Given the description of an element on the screen output the (x, y) to click on. 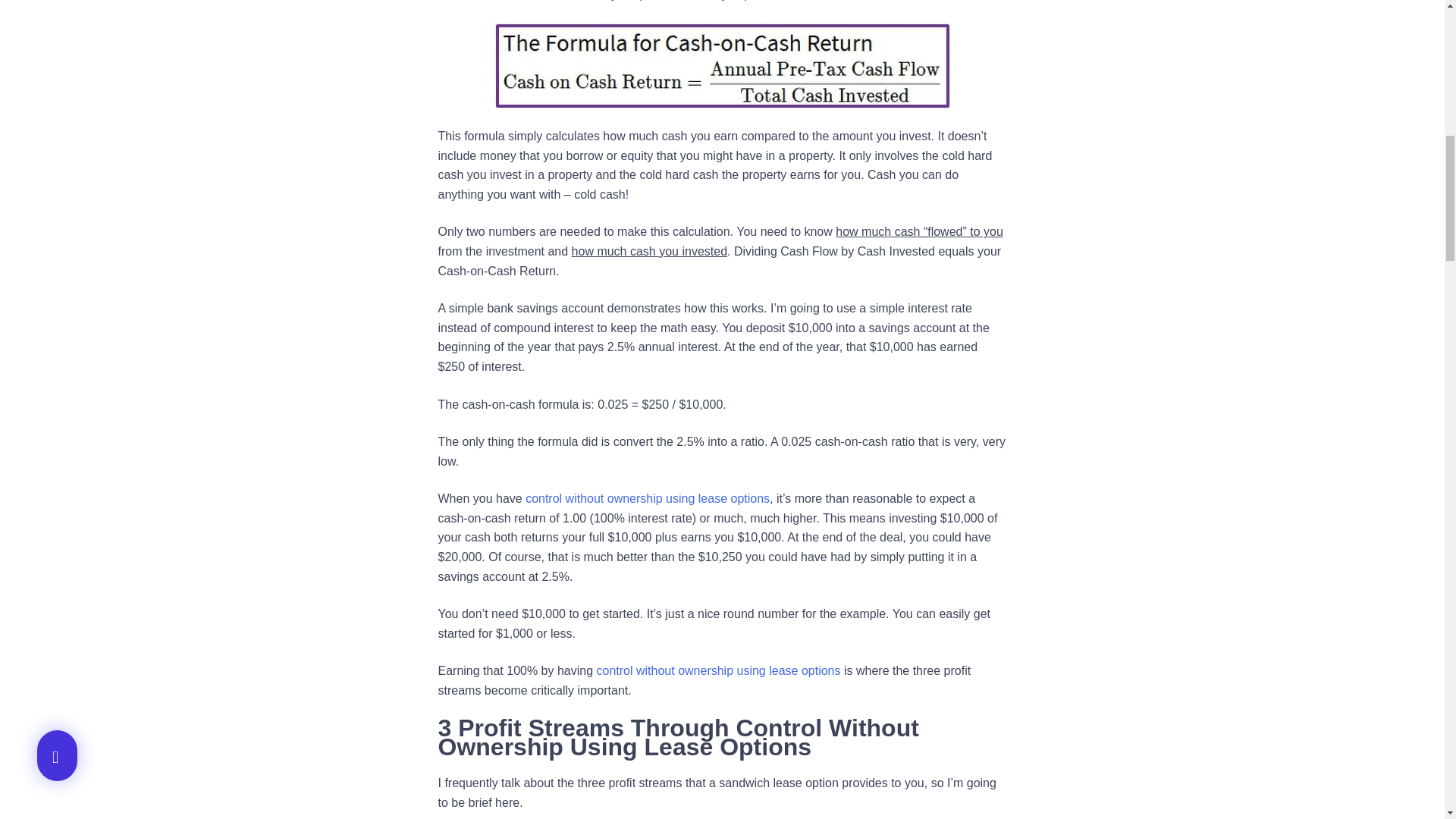
control without ownership using lease options (718, 670)
control without ownership using lease options (647, 498)
